Given the description of an element on the screen output the (x, y) to click on. 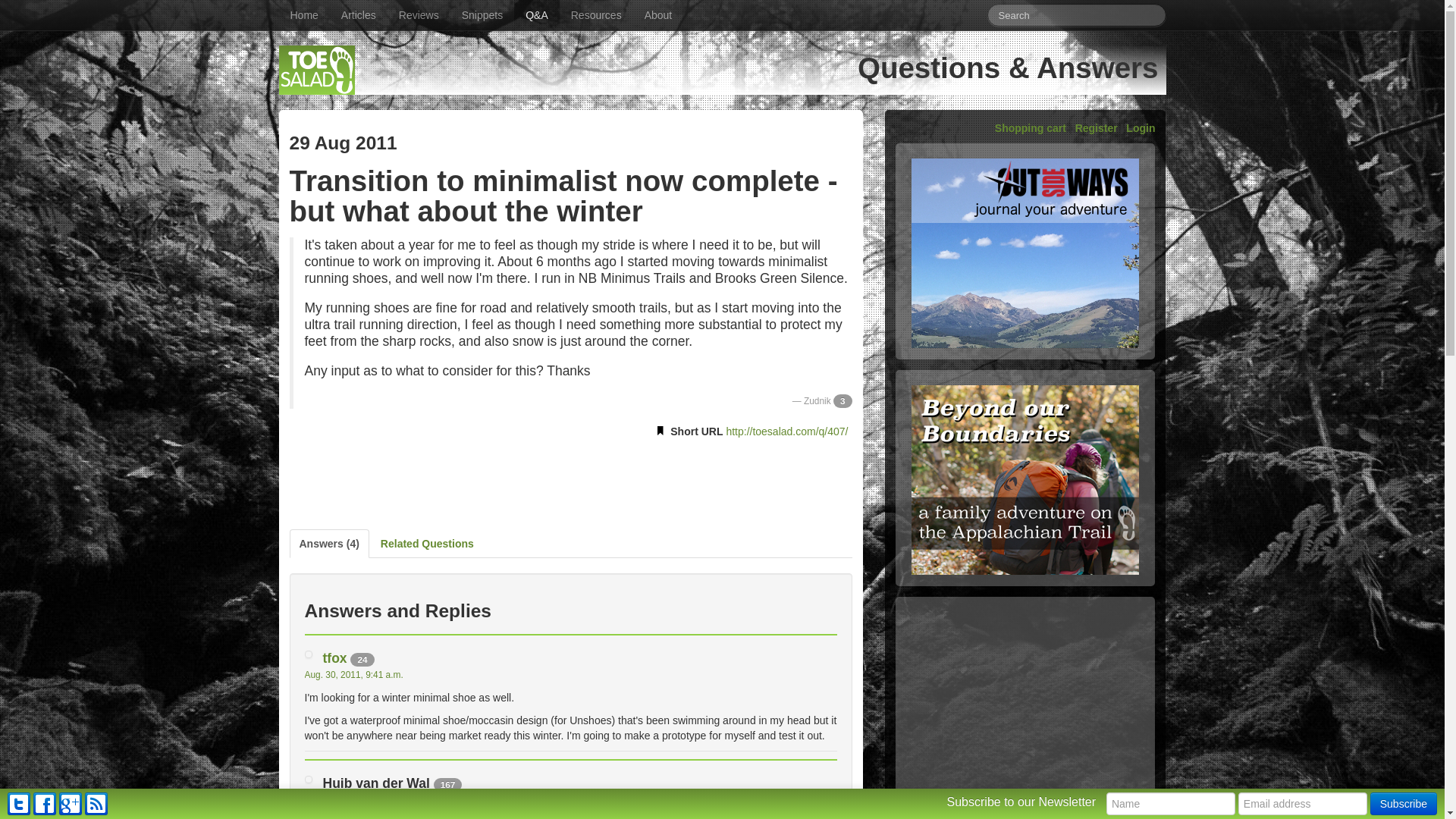
Home (304, 15)
Articles (358, 15)
About (658, 15)
Shopping cart (1029, 128)
Reviews (418, 15)
tfox (335, 657)
Toe Salad (317, 70)
Related Questions (427, 543)
Resources (596, 15)
Aug. 30, 2011, 10:42 a.m. (356, 799)
Snippets (481, 15)
Advertisement (569, 480)
Register (1096, 128)
Login (1139, 128)
Advertisement (1024, 706)
